Given the description of an element on the screen output the (x, y) to click on. 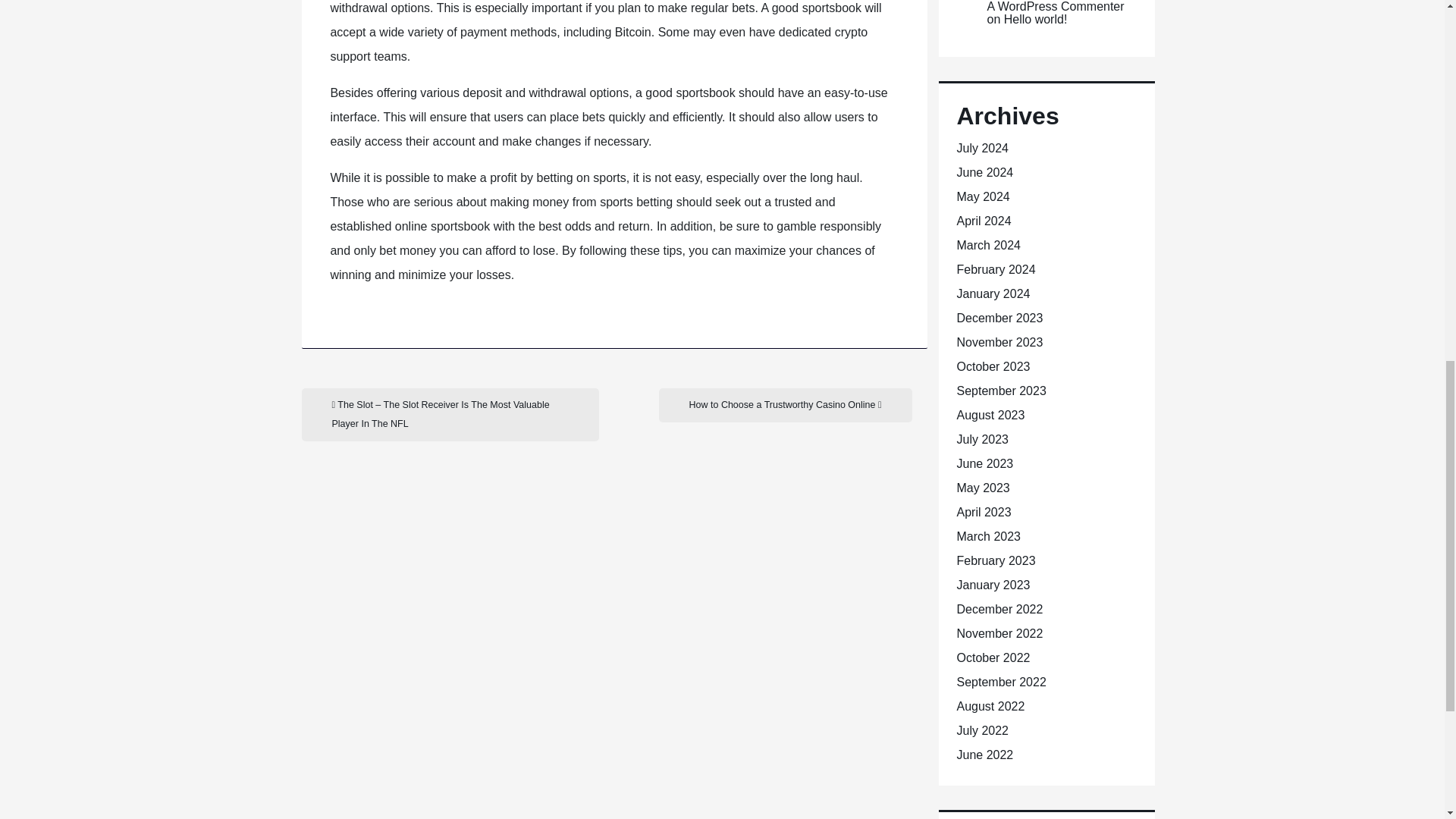
September 2022 (1001, 681)
December 2023 (999, 318)
March 2024 (989, 245)
A WordPress Commenter (1055, 6)
June 2024 (984, 172)
August 2023 (990, 414)
April 2024 (983, 220)
July 2024 (982, 147)
March 2023 (989, 535)
January 2024 (993, 293)
August 2022 (990, 706)
Hello world! (1035, 19)
September 2023 (1001, 390)
May 2024 (983, 196)
How to Choose a Trustworthy Casino Online (784, 405)
